Given the description of an element on the screen output the (x, y) to click on. 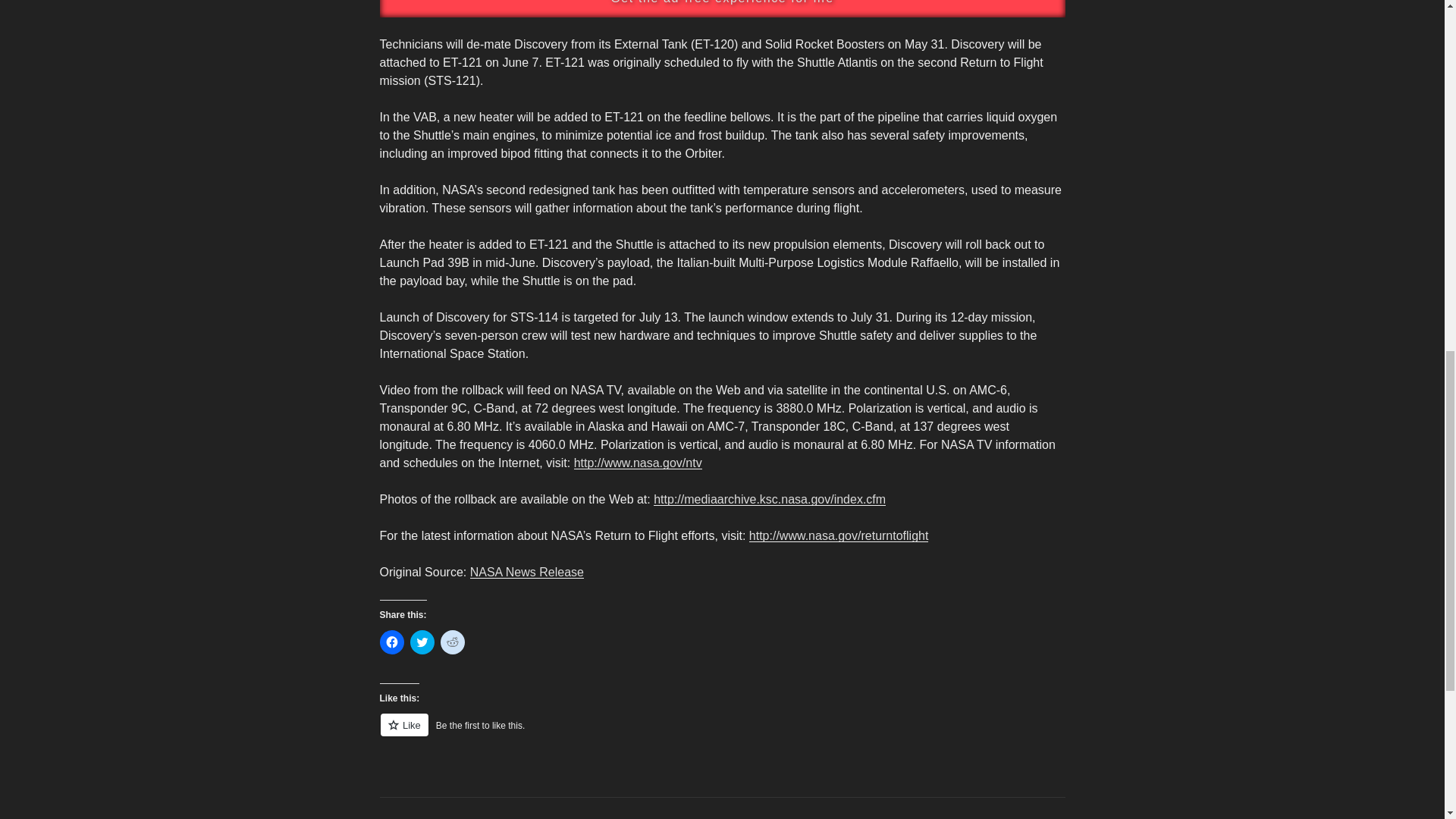
NASA News Release (526, 571)
Click to share on Facebook (390, 641)
Like or Reblog (721, 733)
Click to share on Twitter (421, 641)
Click to share on Reddit (451, 641)
